Given the description of an element on the screen output the (x, y) to click on. 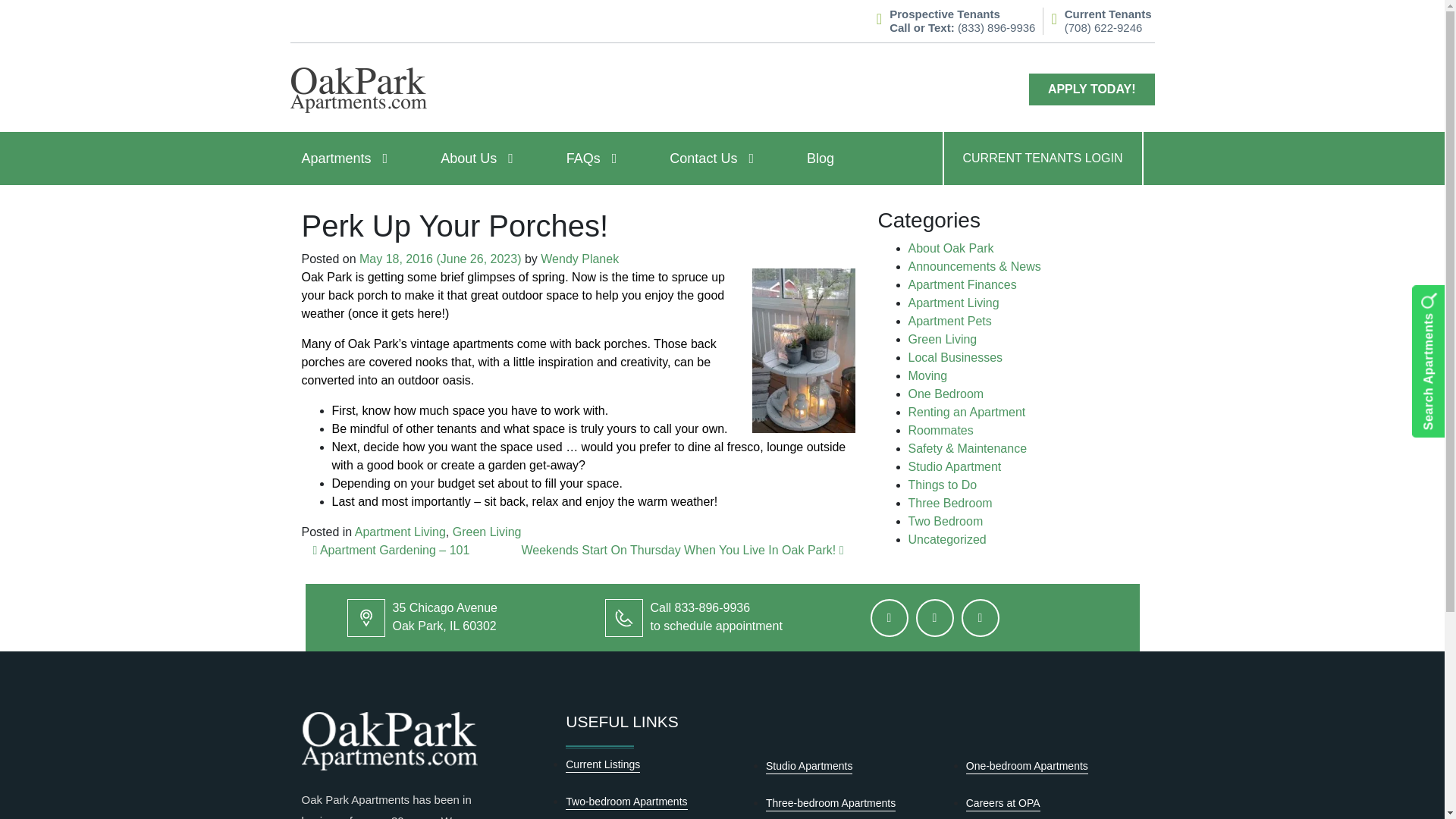
Weekends Start On Thursday When You Live In Oak Park!  (682, 549)
Wendy Planek (590, 157)
Apartment Living (579, 258)
FAQs (400, 531)
Green Living (595, 157)
Apartments (486, 531)
Contact Us (348, 157)
About Us (715, 157)
